Given the description of an element on the screen output the (x, y) to click on. 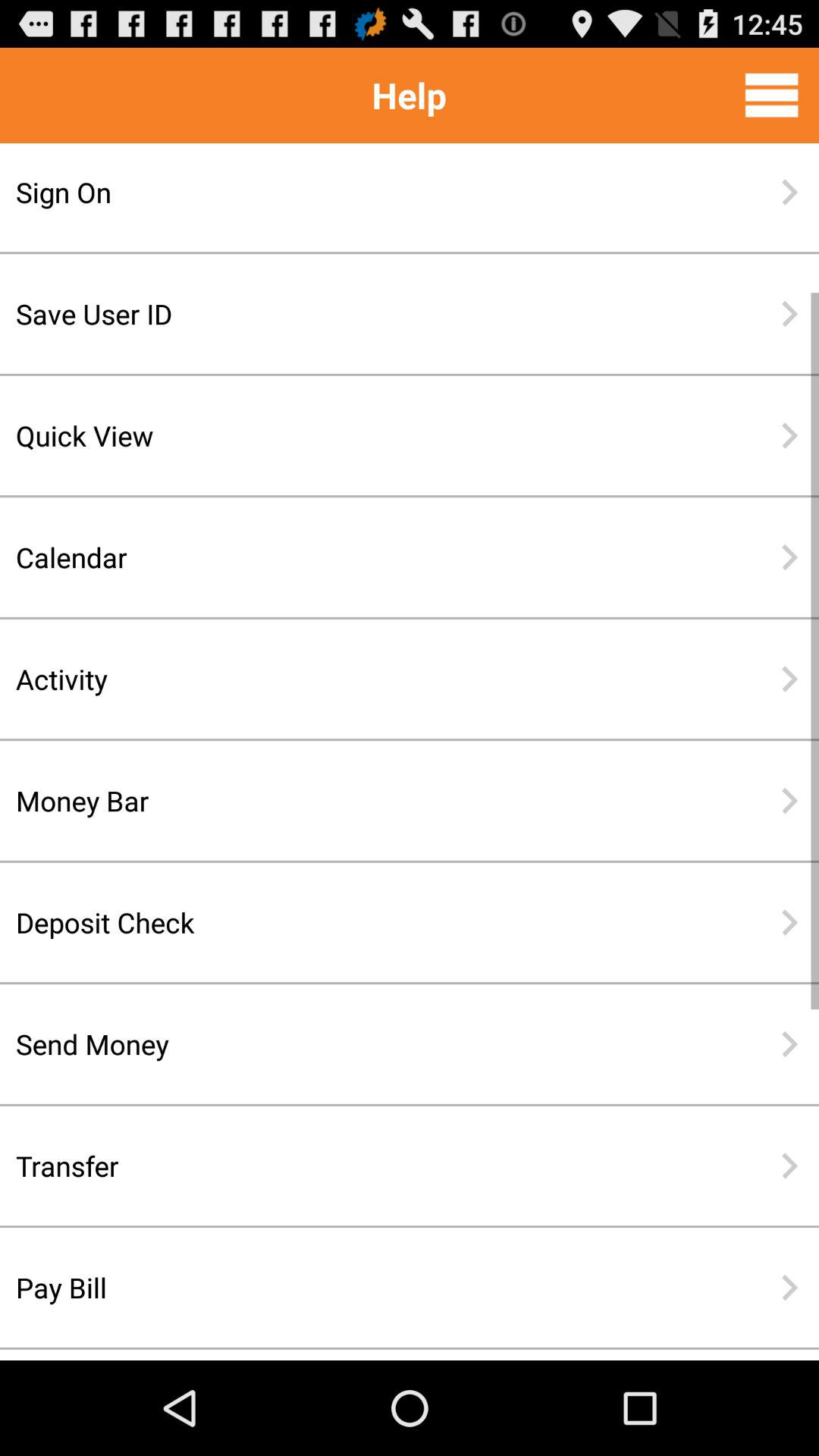
tap the transfer item (359, 1165)
